Given the description of an element on the screen output the (x, y) to click on. 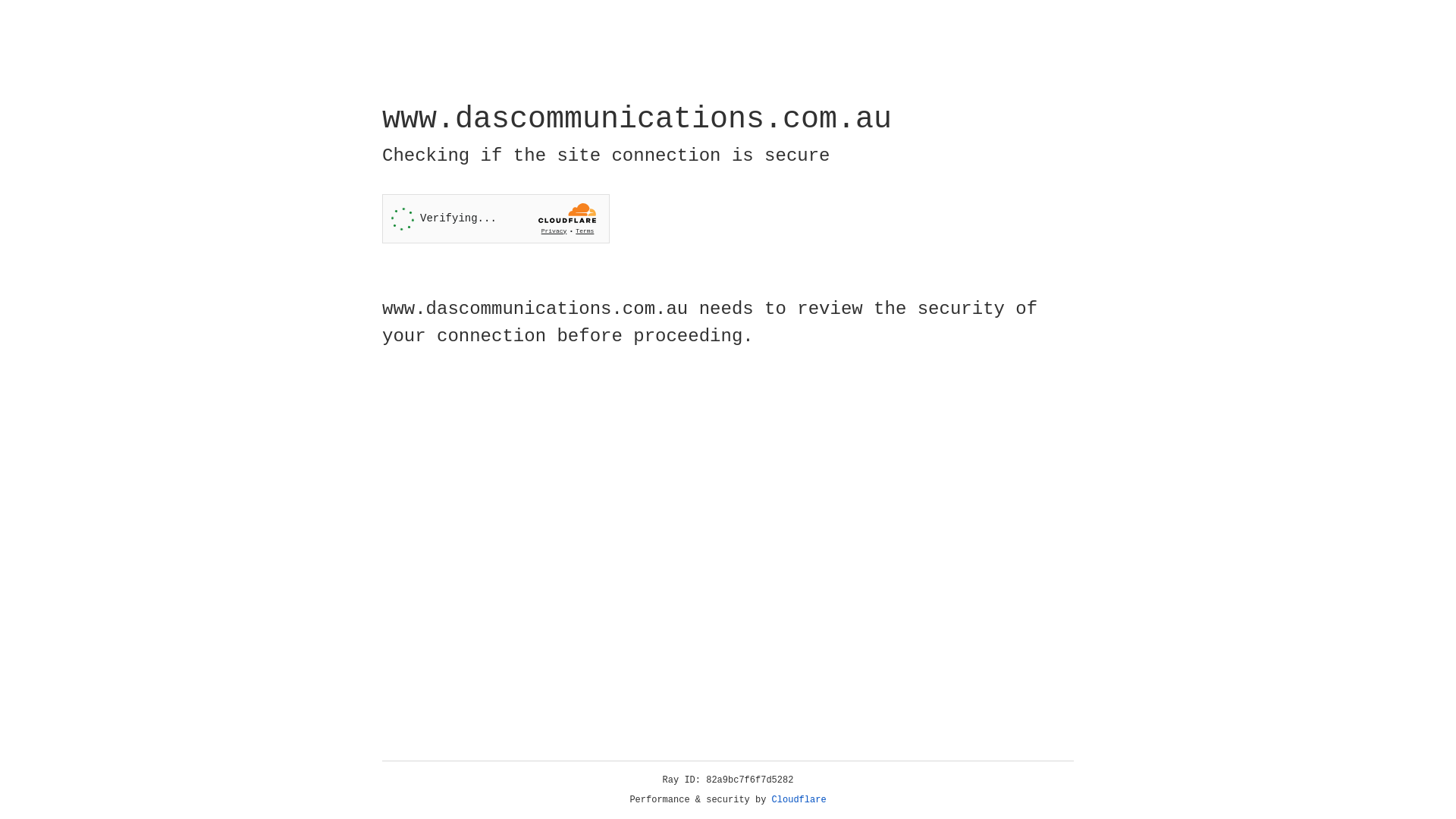
Widget containing a Cloudflare security challenge Element type: hover (495, 218)
Cloudflare Element type: text (798, 799)
